Given the description of an element on the screen output the (x, y) to click on. 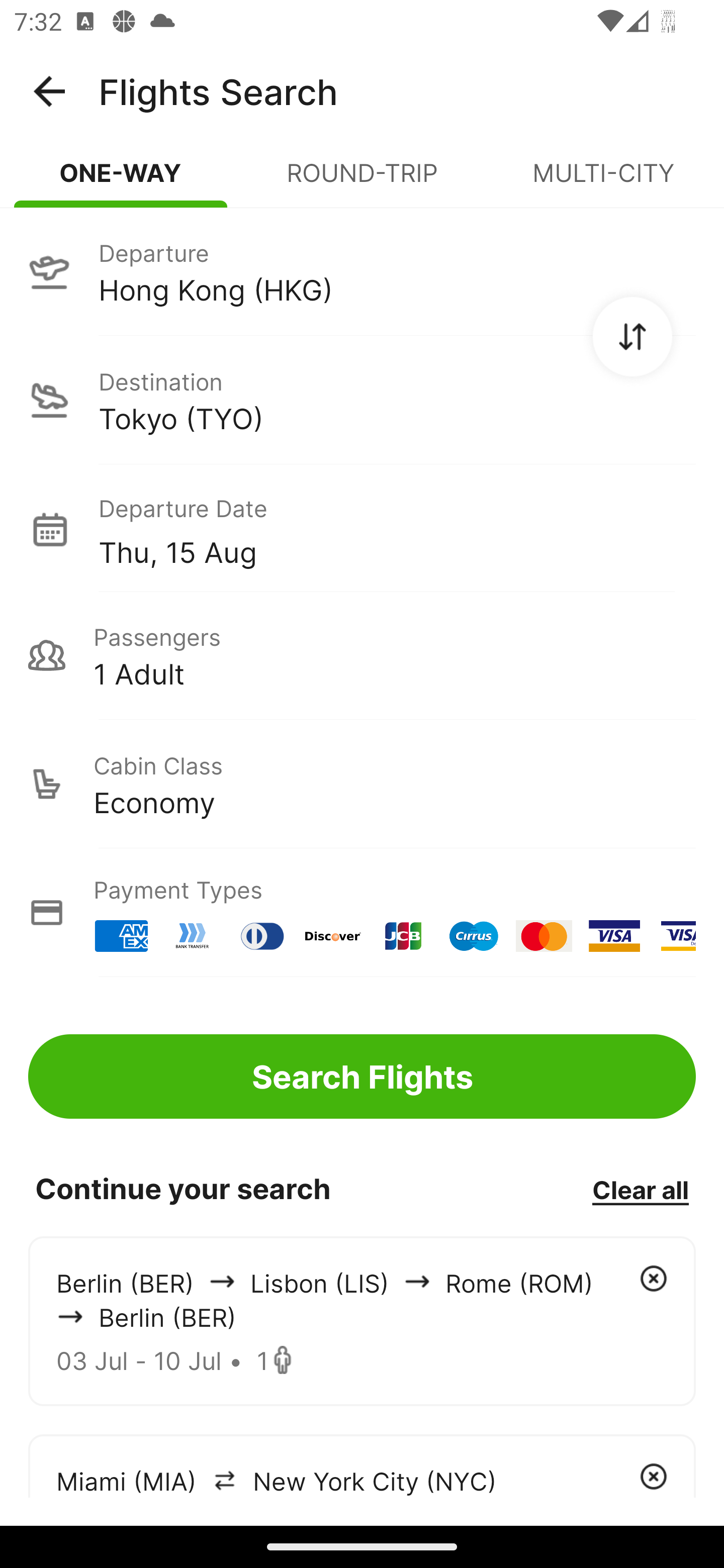
ONE-WAY (120, 180)
ROUND-TRIP (361, 180)
MULTI-CITY (603, 180)
Departure Hong Kong (HKG) (362, 270)
Destination Tokyo (TYO) (362, 400)
Departure Date Thu, 15 Aug (396, 528)
Passengers 1 Adult (362, 655)
Cabin Class Economy (362, 783)
Payment Types (362, 912)
Search Flights (361, 1075)
Clear all (640, 1189)
Miami (MIA)  arrowIcon  New York City (NYC) (361, 1465)
